Given the description of an element on the screen output the (x, y) to click on. 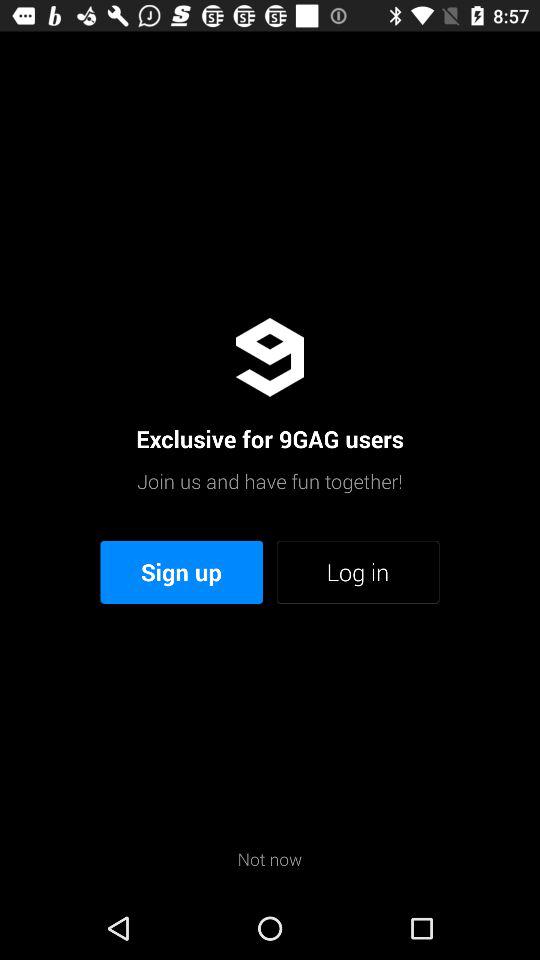
click the icon next to log in (181, 571)
